Given the description of an element on the screen output the (x, y) to click on. 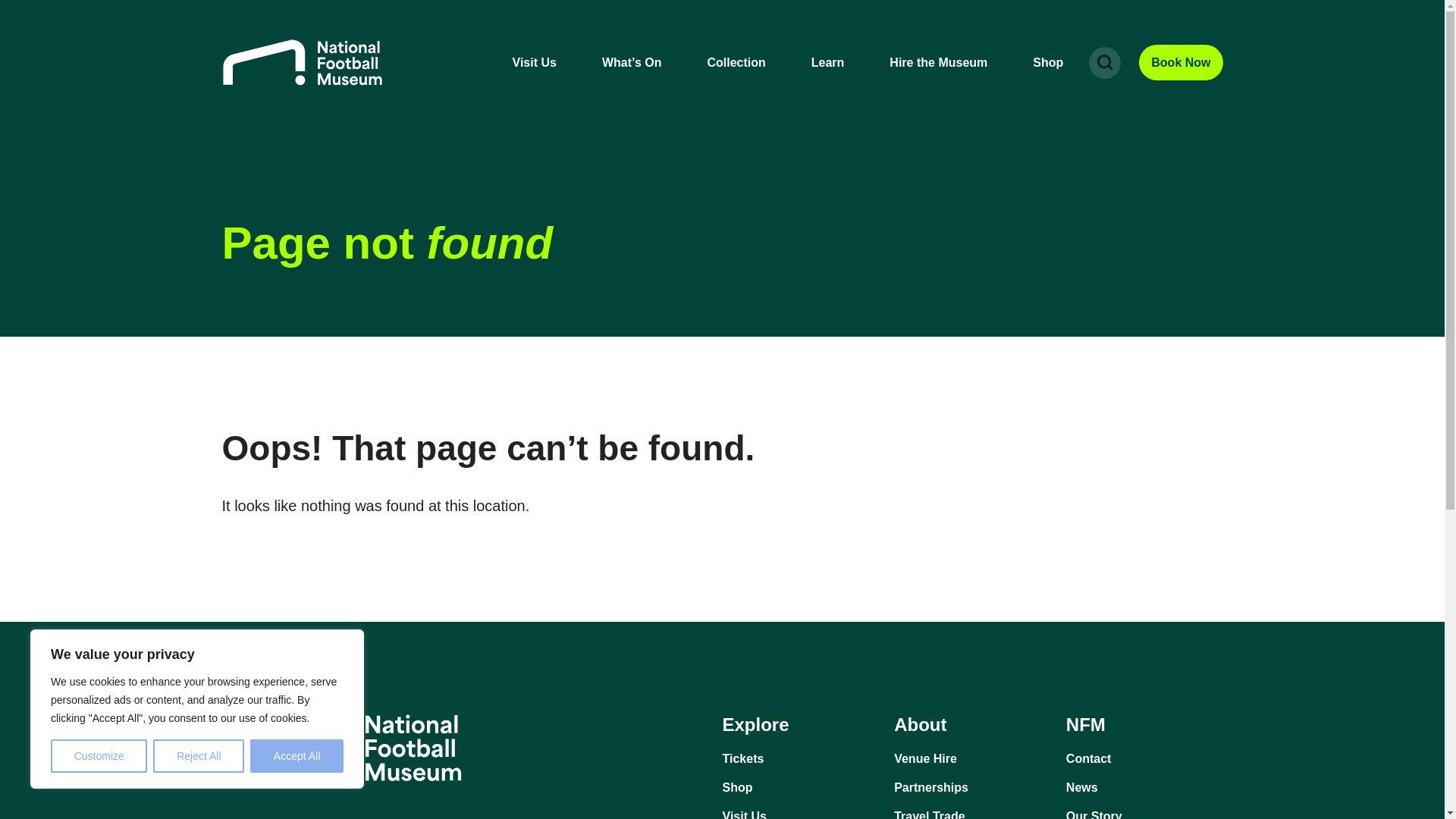
Accept All (296, 756)
Venue Hire (972, 759)
Tickets (800, 759)
Collection (735, 61)
Partnerships (972, 787)
National Football Museum (301, 62)
Learn (827, 61)
Shop (1047, 61)
Visit Us (800, 813)
Book Now (1180, 62)
Reject All (198, 756)
Hire the Museum (938, 61)
National Football Museum (301, 62)
Customize (98, 756)
Shop (800, 787)
